Given the description of an element on the screen output the (x, y) to click on. 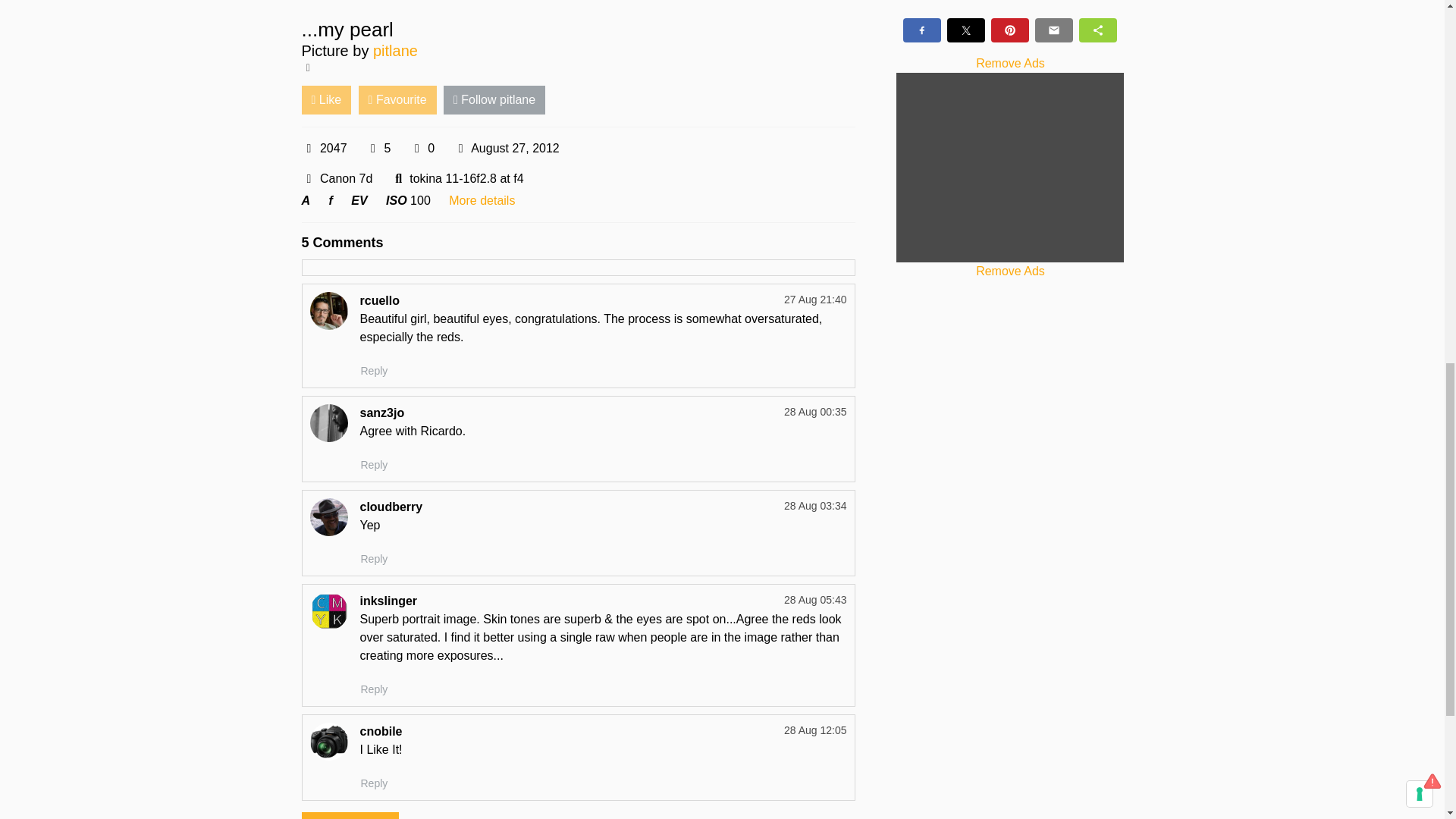
pitlane (394, 50)
views (309, 148)
Reply (373, 559)
Reply (373, 371)
More details (481, 200)
Reply (373, 465)
Remove Ads (1010, 270)
August 28, 2012 03:34 (815, 505)
August 27, 2012 21:40 (815, 299)
Follow pitlane (494, 99)
Favourite (397, 99)
Exposure Value (358, 200)
Reply (373, 783)
August 28, 2012 00:35 (815, 411)
likes (372, 148)
